Given the description of an element on the screen output the (x, y) to click on. 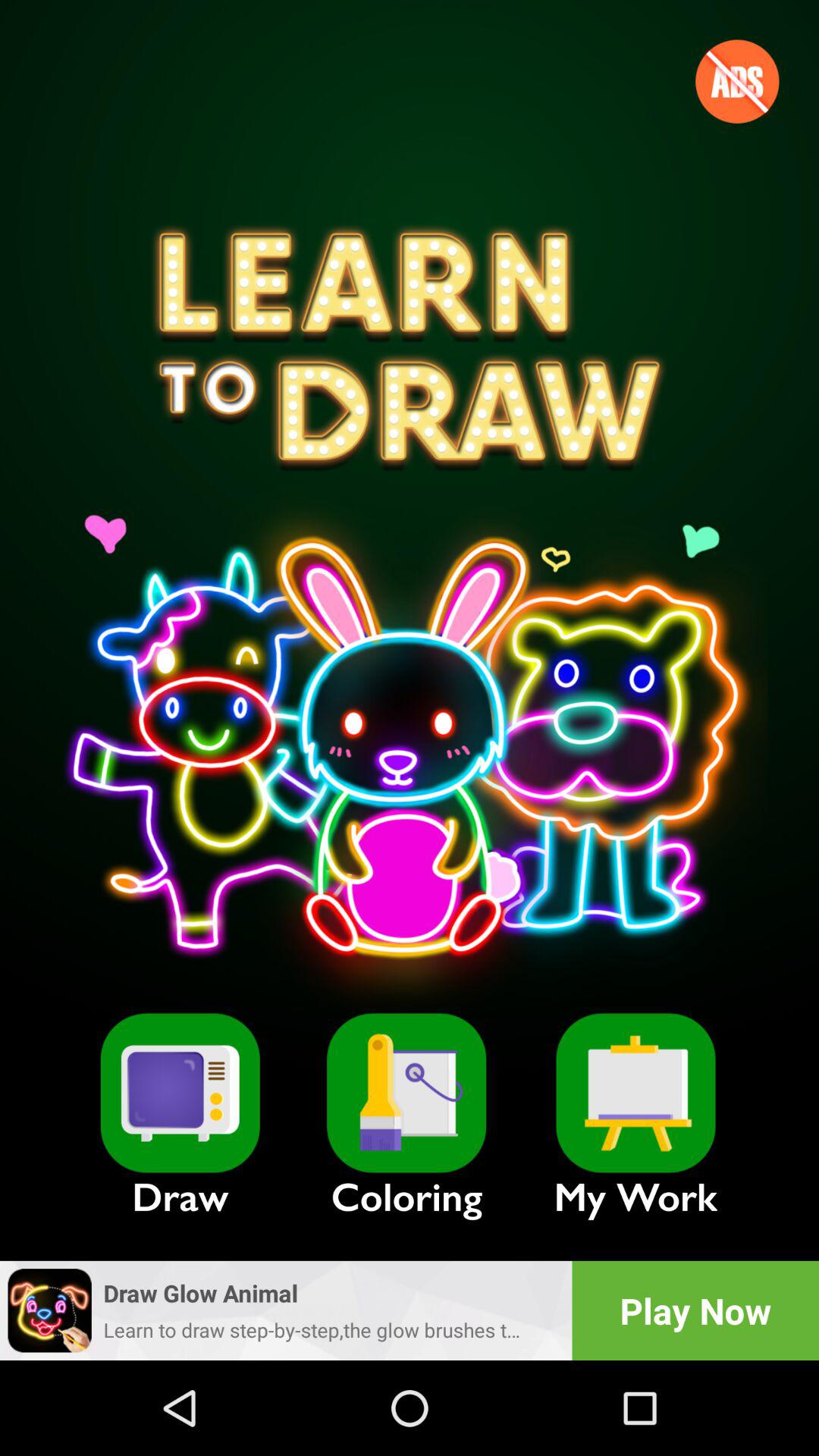
collections of our work (635, 1092)
